Given the description of an element on the screen output the (x, y) to click on. 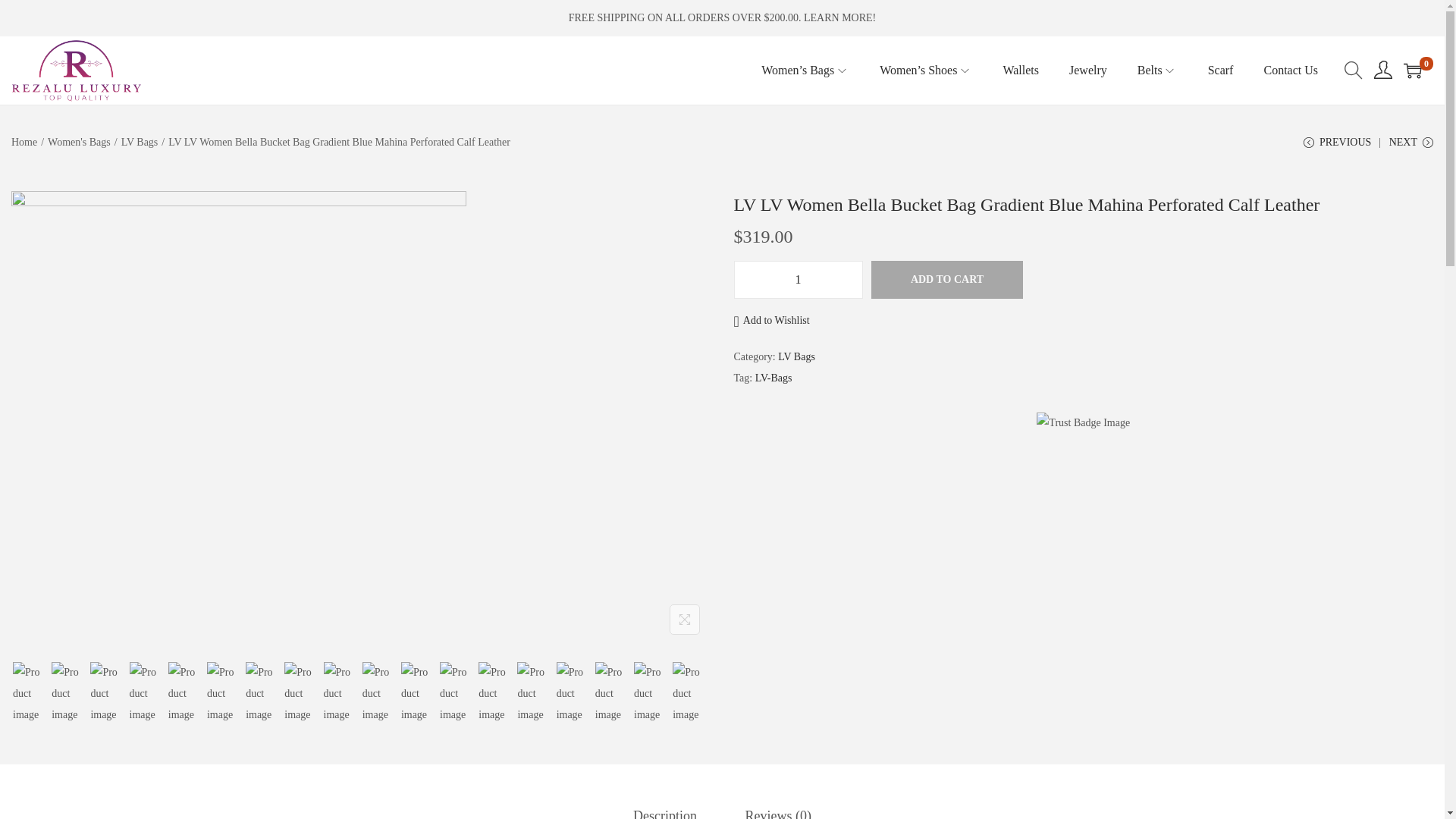
1 (797, 279)
Home (24, 142)
LEARN MORE! (839, 17)
Women's Bags (79, 142)
LV Bags (139, 142)
PREVIOUS (1337, 147)
NEXT (1410, 147)
0 (1412, 70)
